Given the description of an element on the screen output the (x, y) to click on. 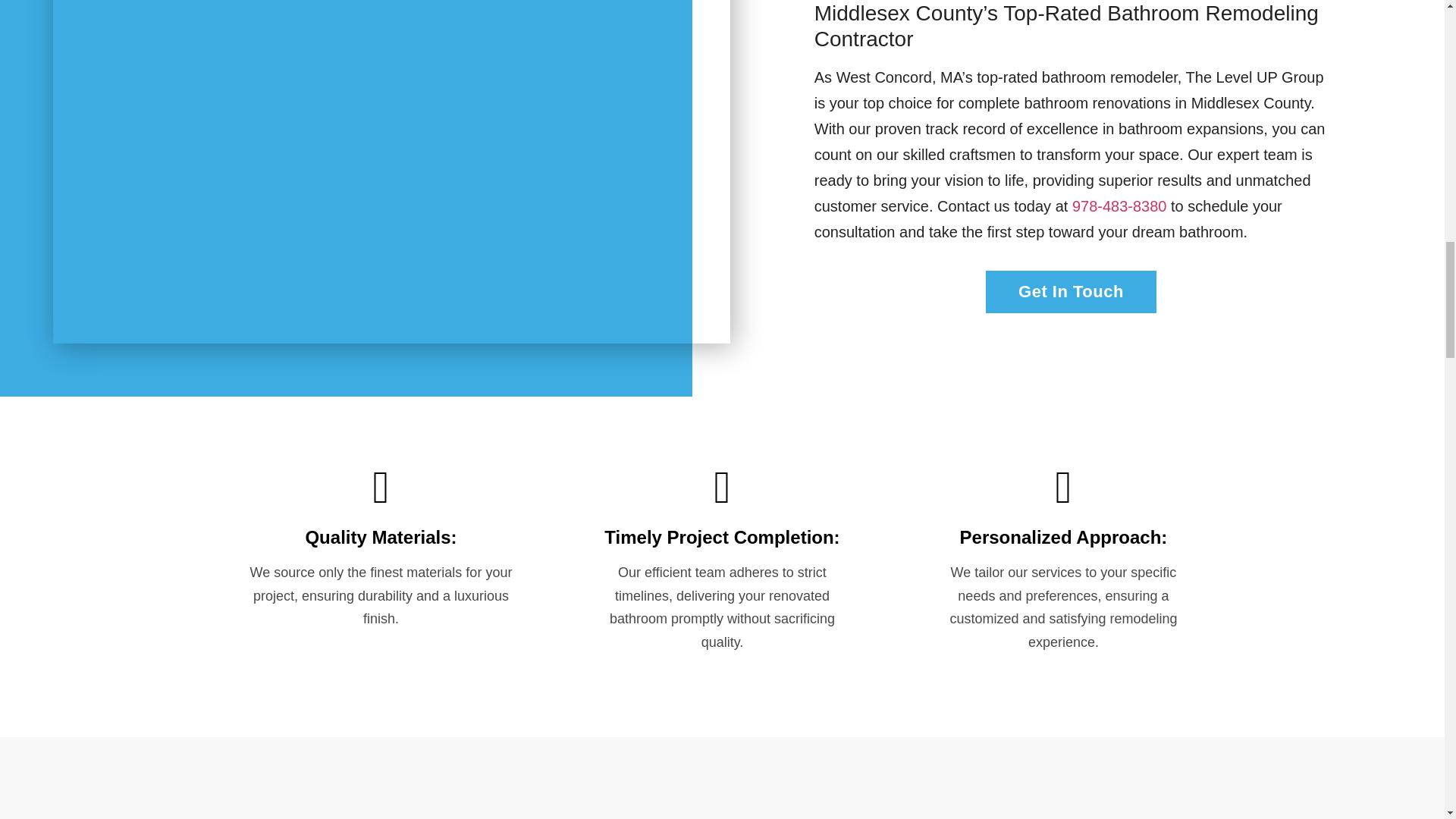
Get In Touch (1070, 291)
978-483-8380 (1119, 206)
